Given the description of an element on the screen output the (x, y) to click on. 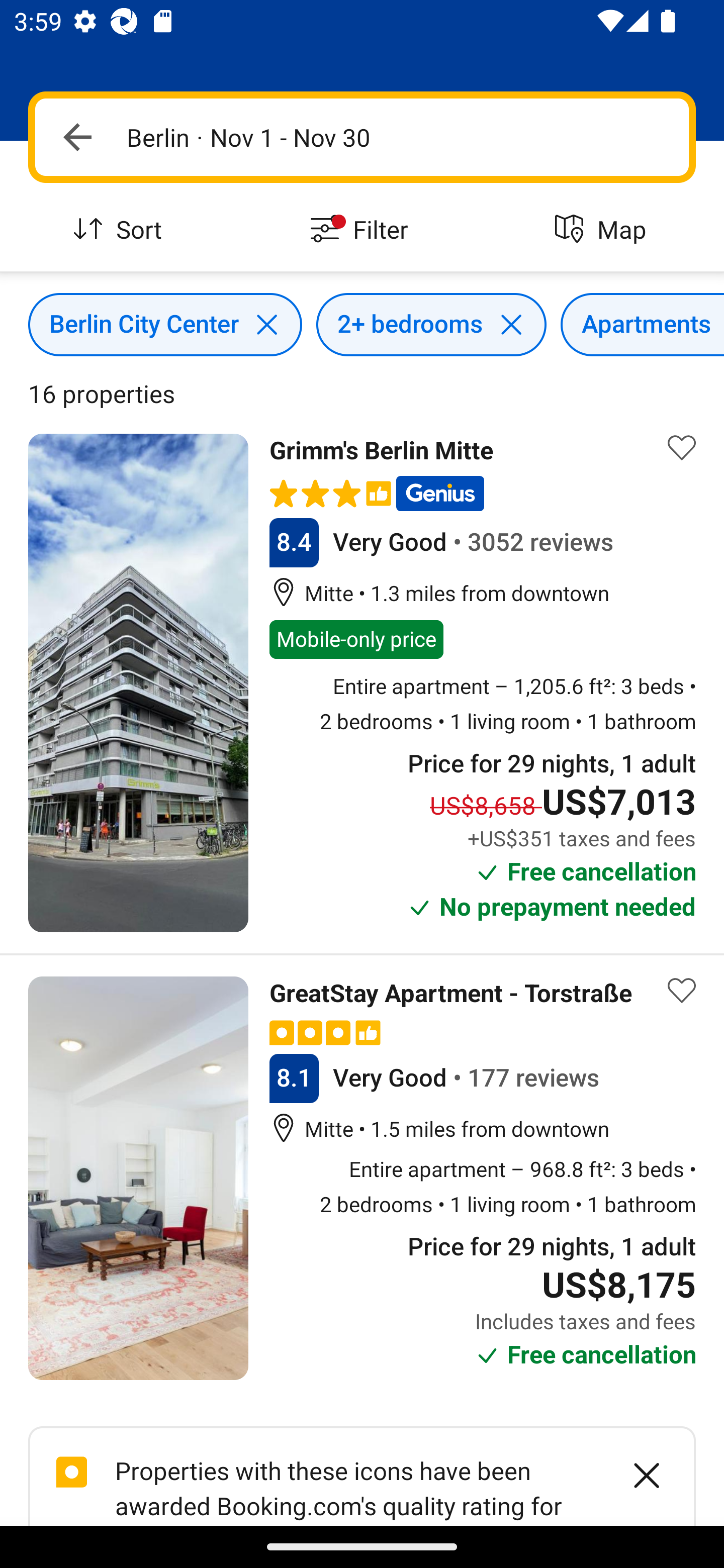
Navigate up Berlin · Nov 1 - Nov 30 (362, 136)
Navigate up (77, 136)
Sort (120, 230)
Filter (361, 230)
Map (603, 230)
Save property to list (681, 447)
Save property to list (681, 990)
Clear (635, 1475)
